Given the description of an element on the screen output the (x, y) to click on. 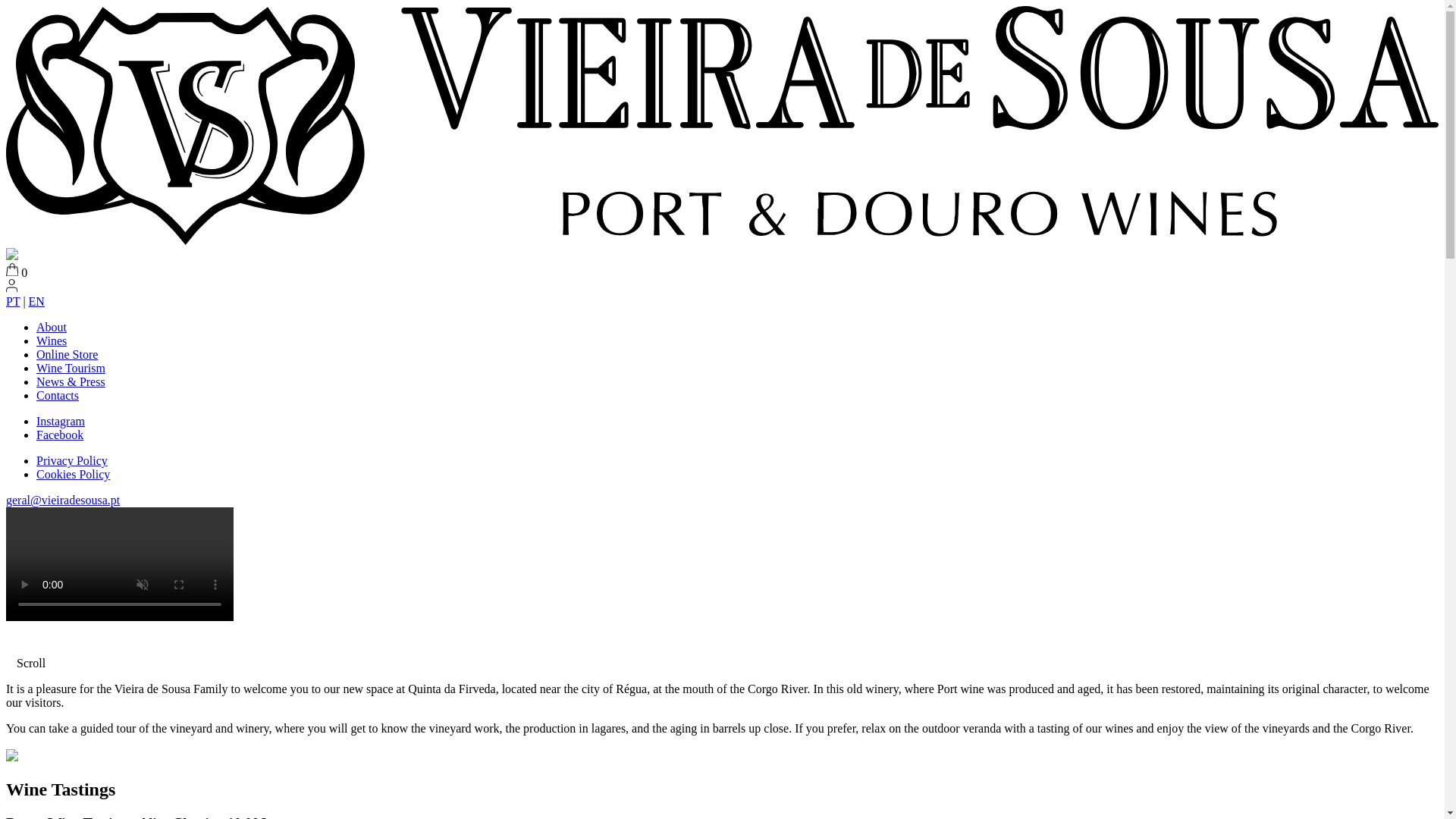
About (51, 327)
PT (12, 300)
Wines (51, 340)
EN (37, 300)
Instagram (60, 420)
Contacts (57, 395)
Cookies Policy (73, 473)
Facebook (59, 434)
Privacy Policy (71, 460)
Wine Tourism (70, 367)
Online Store (66, 354)
